Given the description of an element on the screen output the (x, y) to click on. 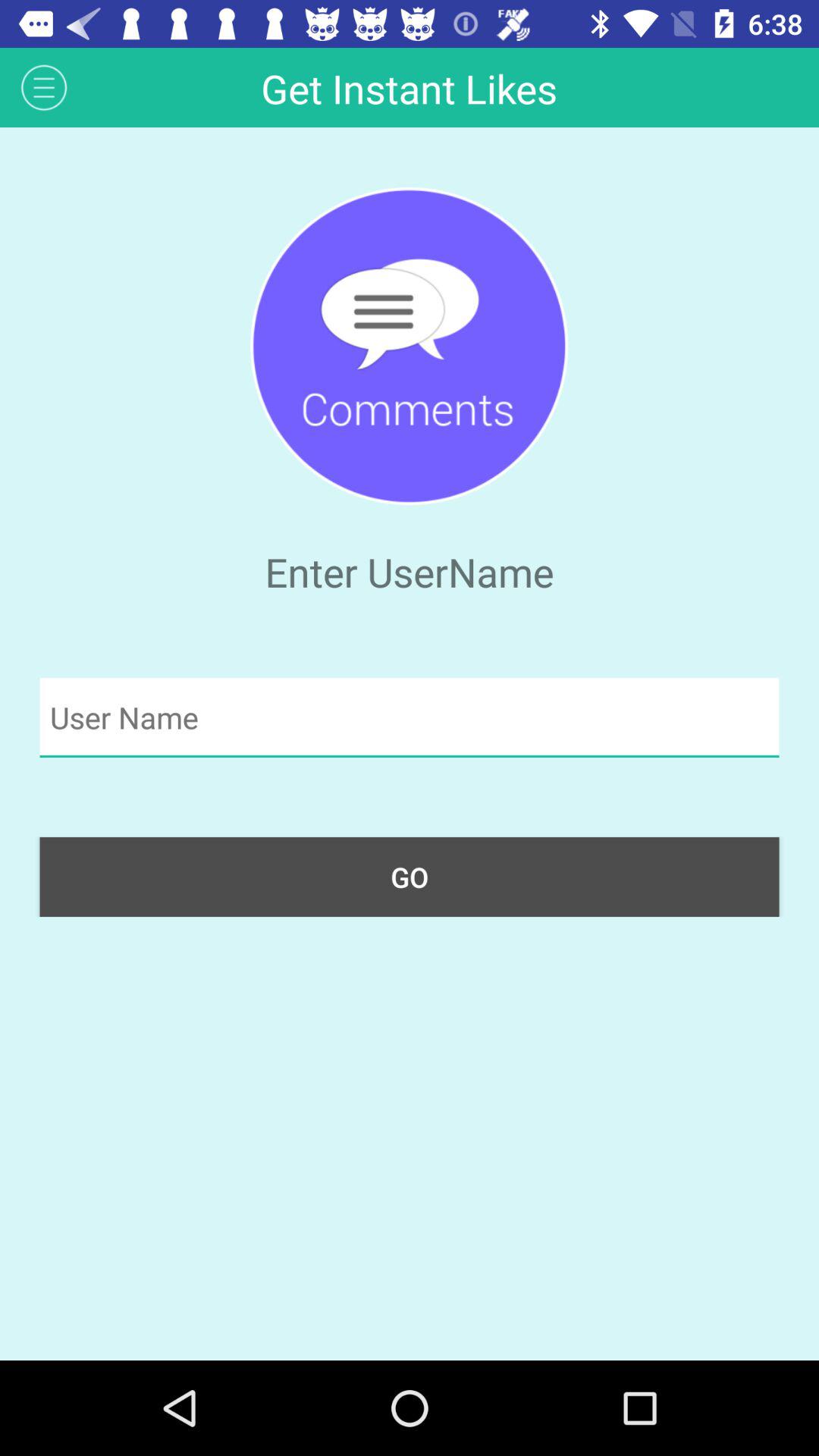
turn on the app to the left of the get instant likes item (44, 87)
